Given the description of an element on the screen output the (x, y) to click on. 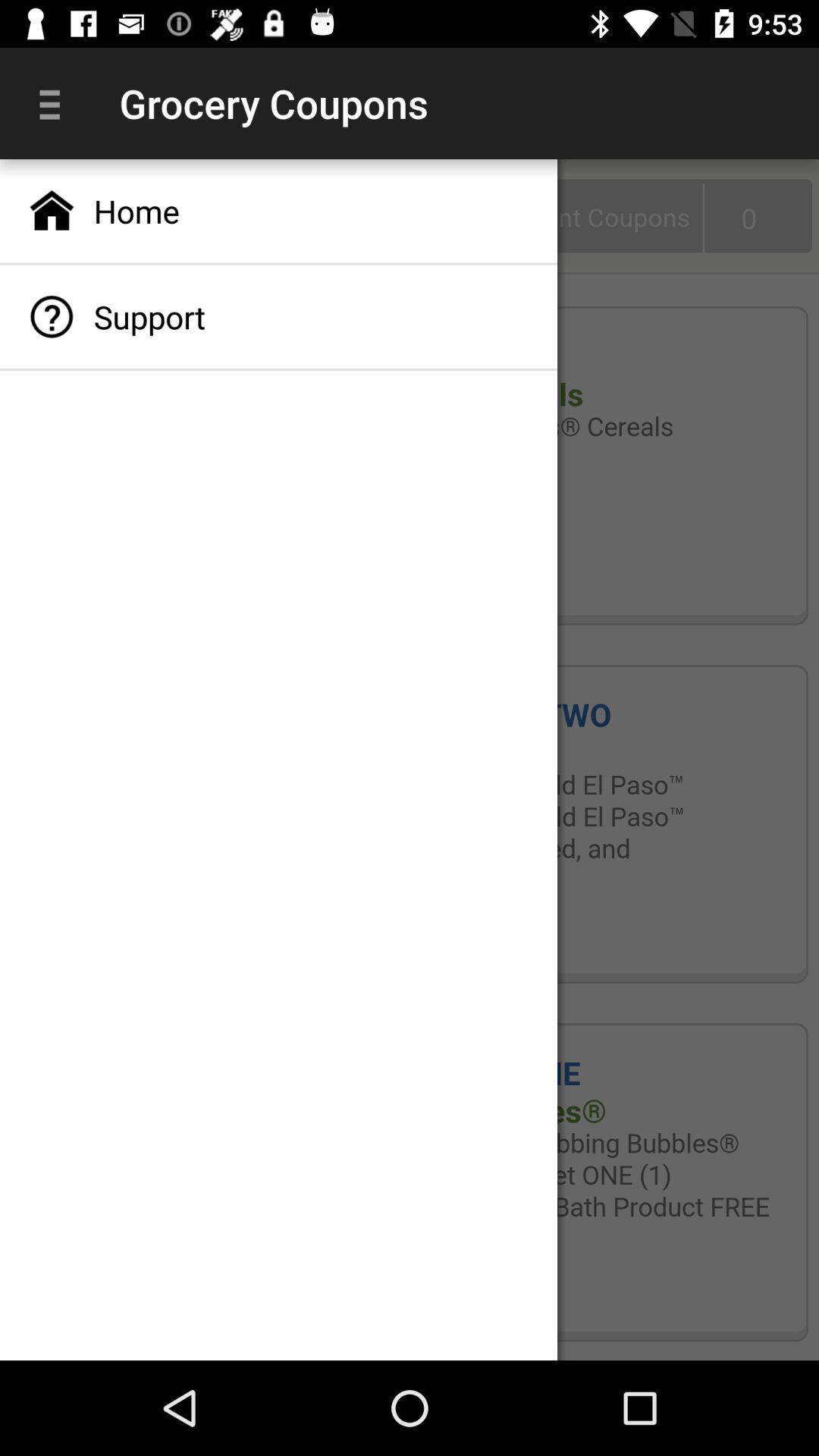
click the icon above the support app (278, 210)
